Given the description of an element on the screen output the (x, y) to click on. 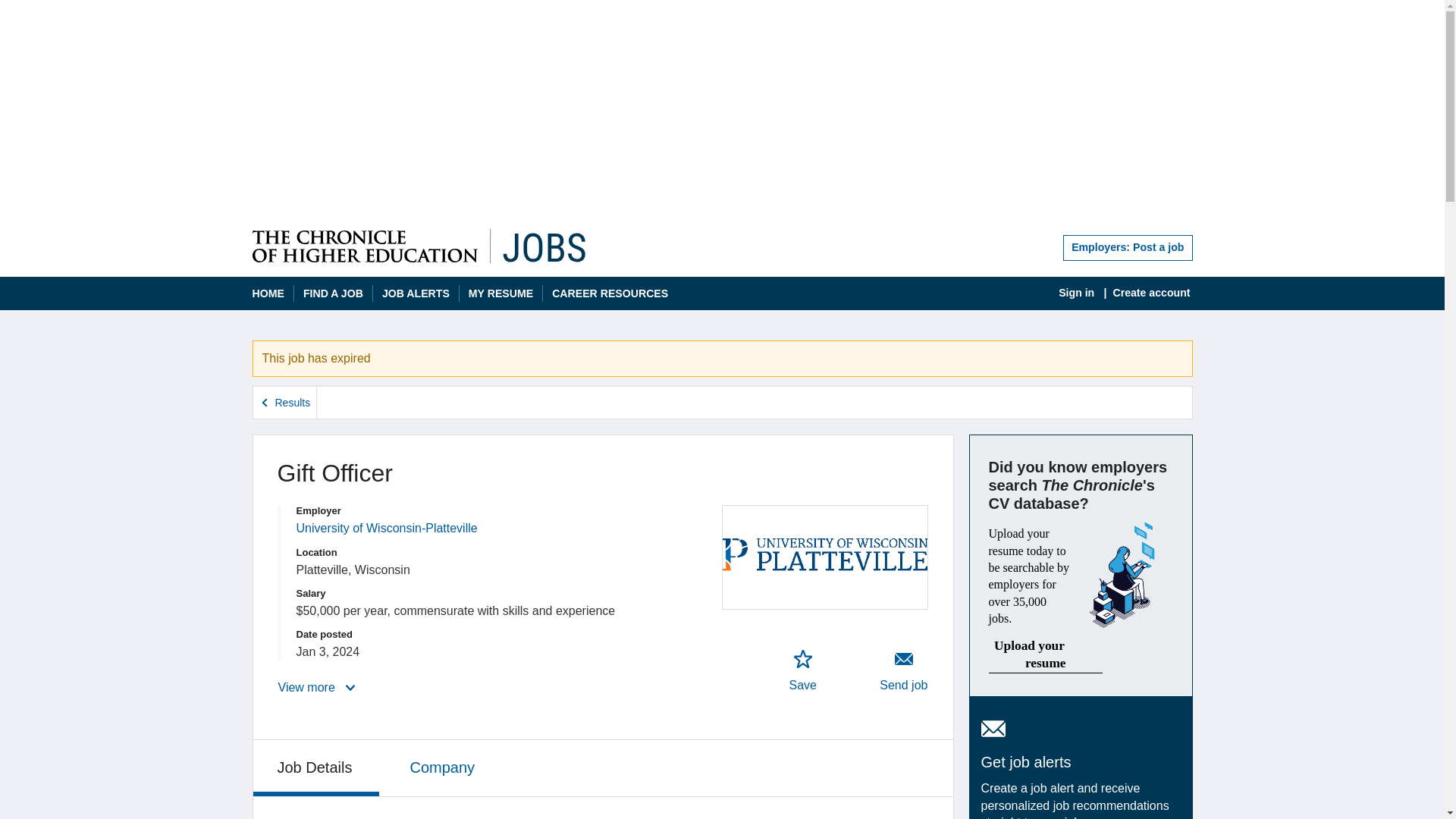
The Chronicle of Higher Education Jobs (418, 246)
View more (318, 687)
Create account (1150, 293)
University of Wisconsin-Platteville (386, 527)
Sign in (1076, 293)
Results (285, 402)
Company (443, 765)
HOME (267, 294)
Job Details (316, 768)
FIND A JOB (332, 294)
JOB ALERTS (802, 670)
Send job (415, 294)
Employers: Post a job (903, 670)
